Given the description of an element on the screen output the (x, y) to click on. 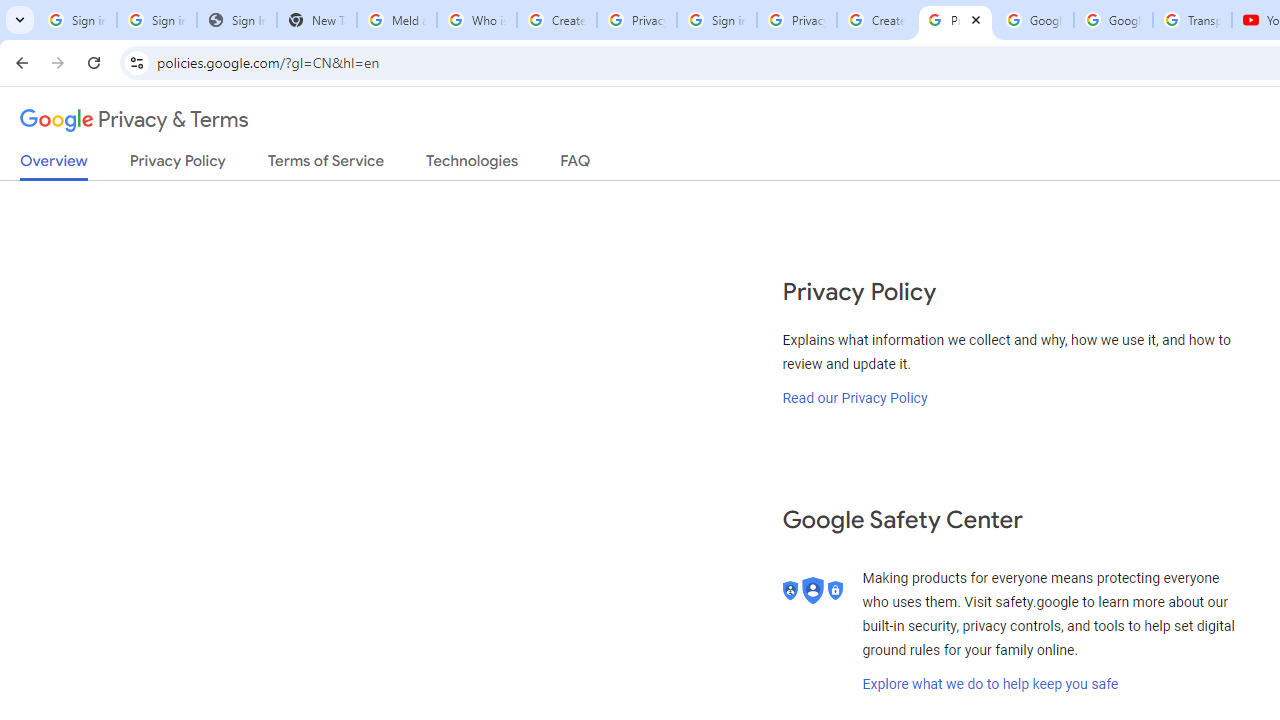
Create your Google Account (876, 20)
Sign In - USA TODAY (236, 20)
Create your Google Account (556, 20)
